Given the description of an element on the screen output the (x, y) to click on. 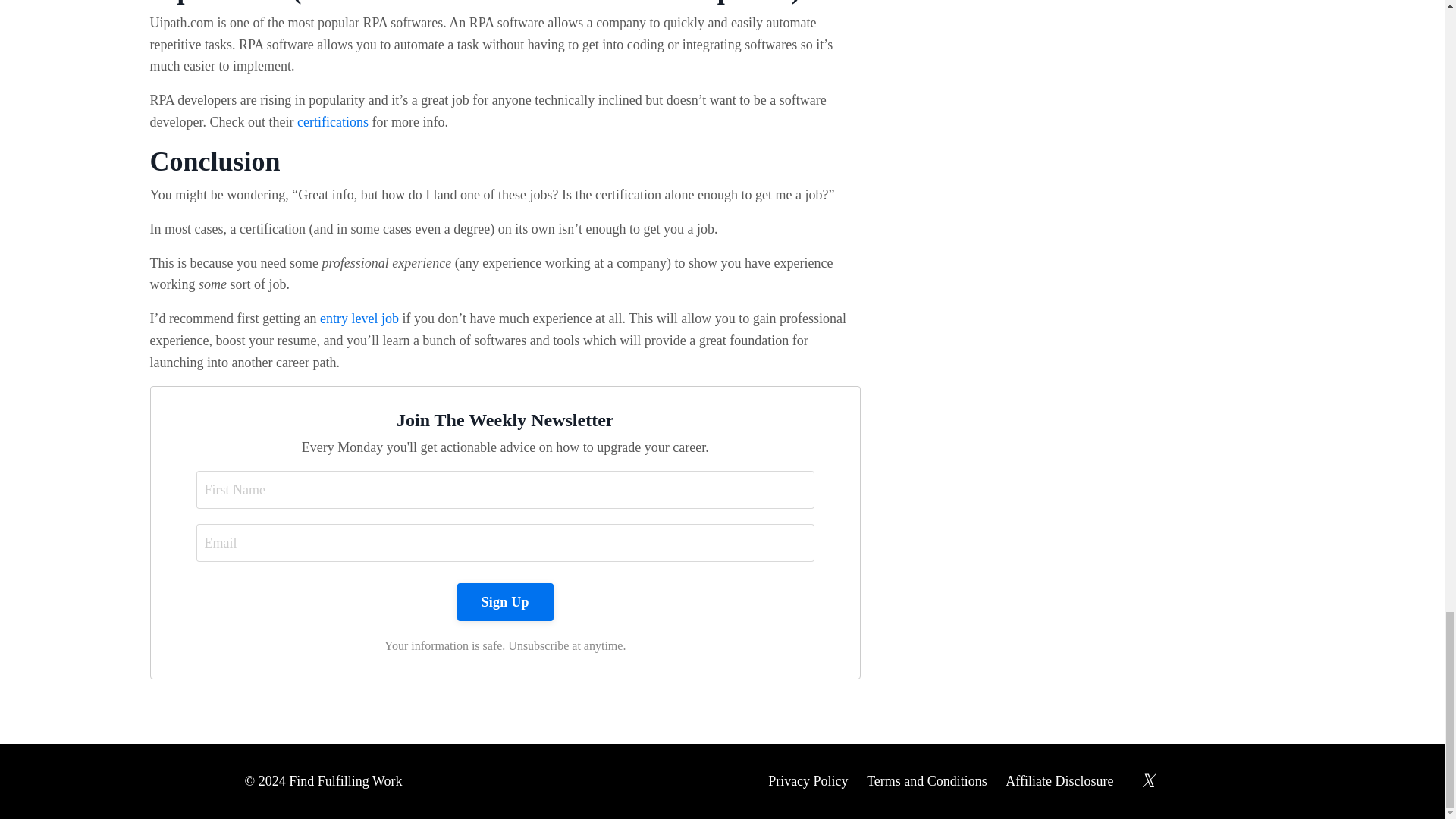
Terms and Conditions (926, 780)
entry level job (359, 318)
Privacy Policy (808, 780)
certifications (332, 121)
Sign Up (505, 601)
Affiliate Disclosure (1059, 780)
Sign Up (505, 601)
